Given the description of an element on the screen output the (x, y) to click on. 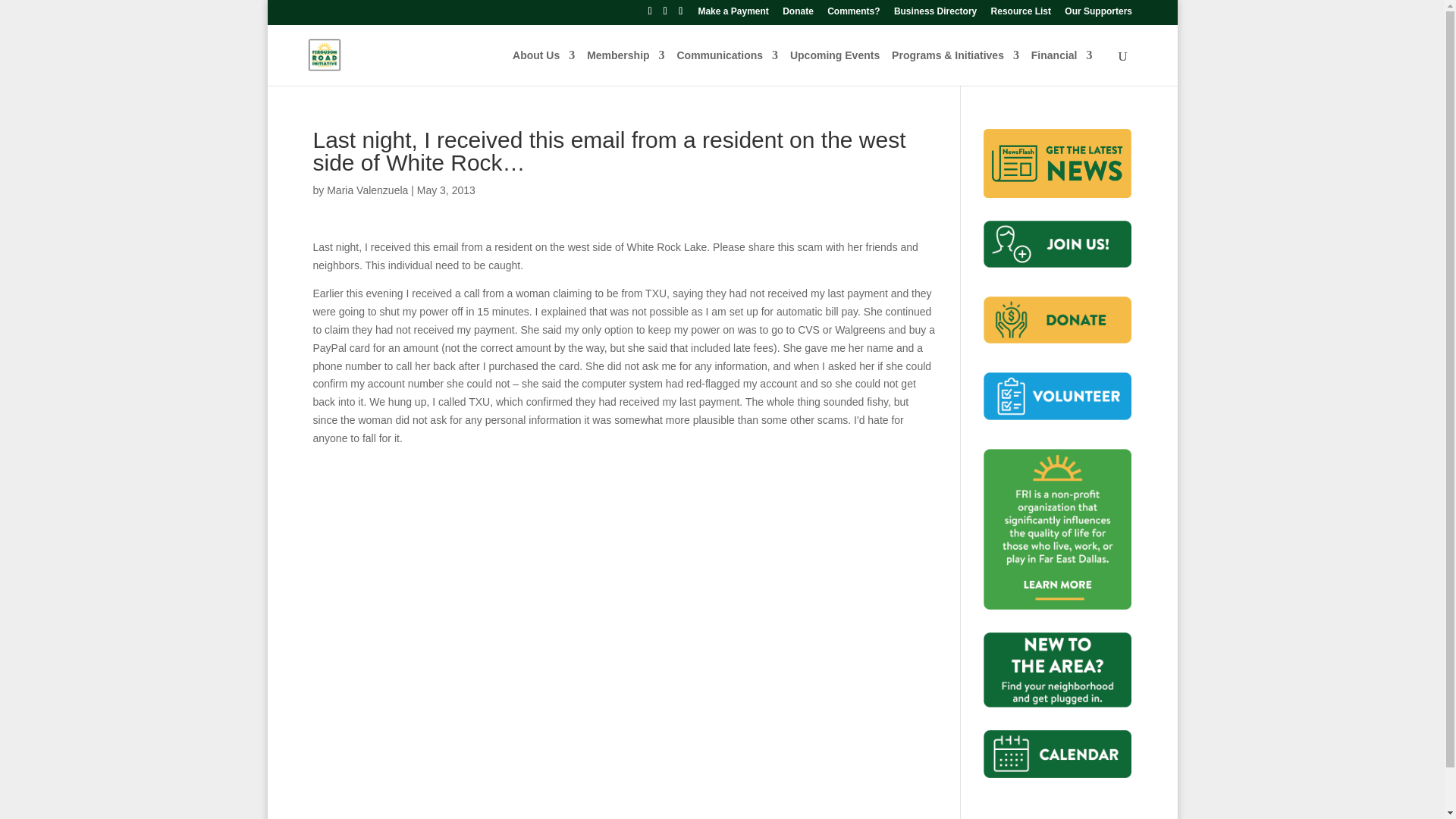
About Us (543, 67)
Resource List (1019, 14)
Comments? (853, 14)
Upcoming Events (834, 67)
Make a Payment (732, 14)
Donate (798, 14)
Our Supporters (1098, 14)
Business Directory (934, 14)
Posts by Maria Valenzuela (366, 190)
Membership (624, 67)
Communications (727, 67)
